Given the description of an element on the screen output the (x, y) to click on. 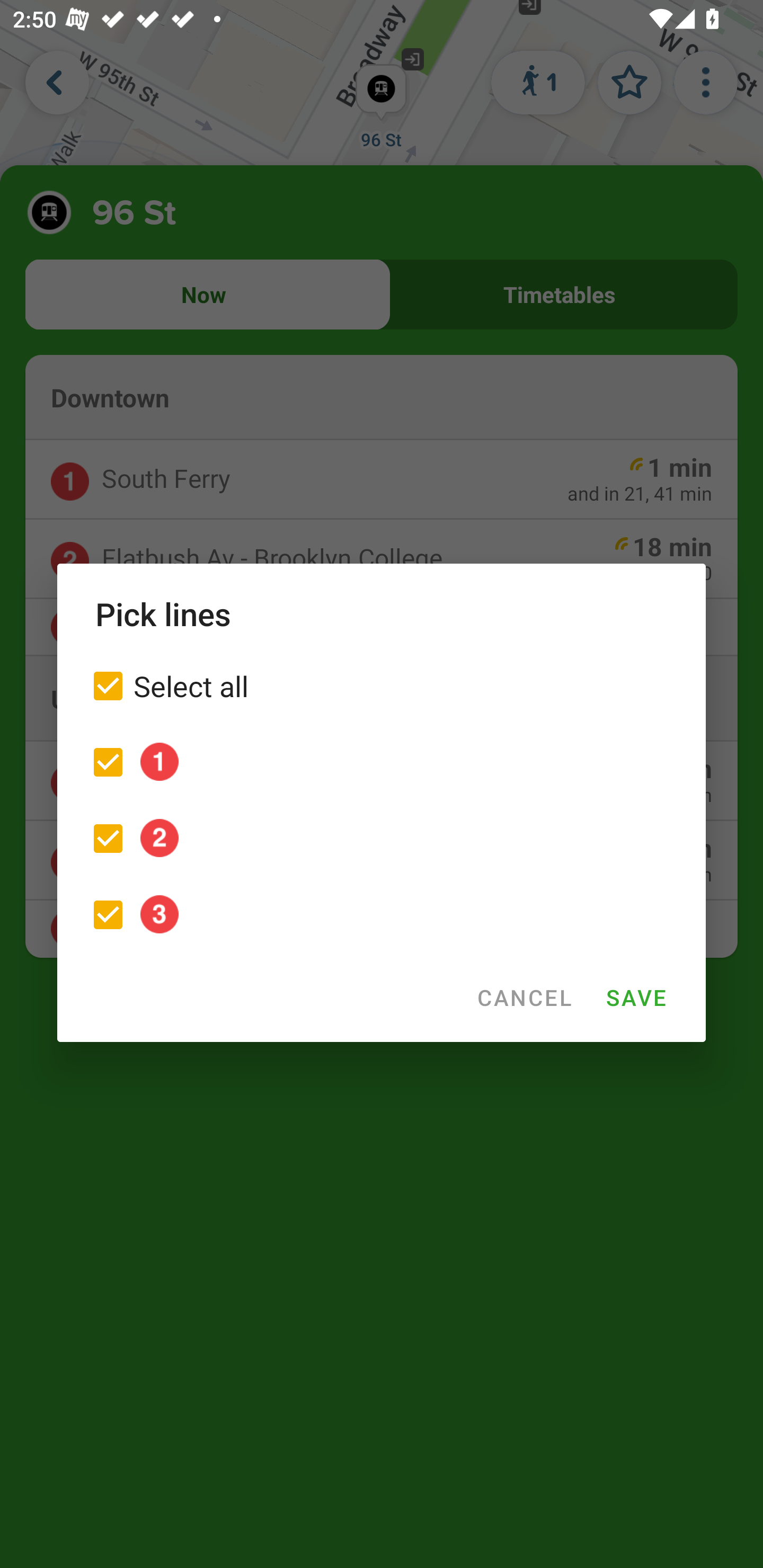
SAVE (635, 996)
